Given the description of an element on the screen output the (x, y) to click on. 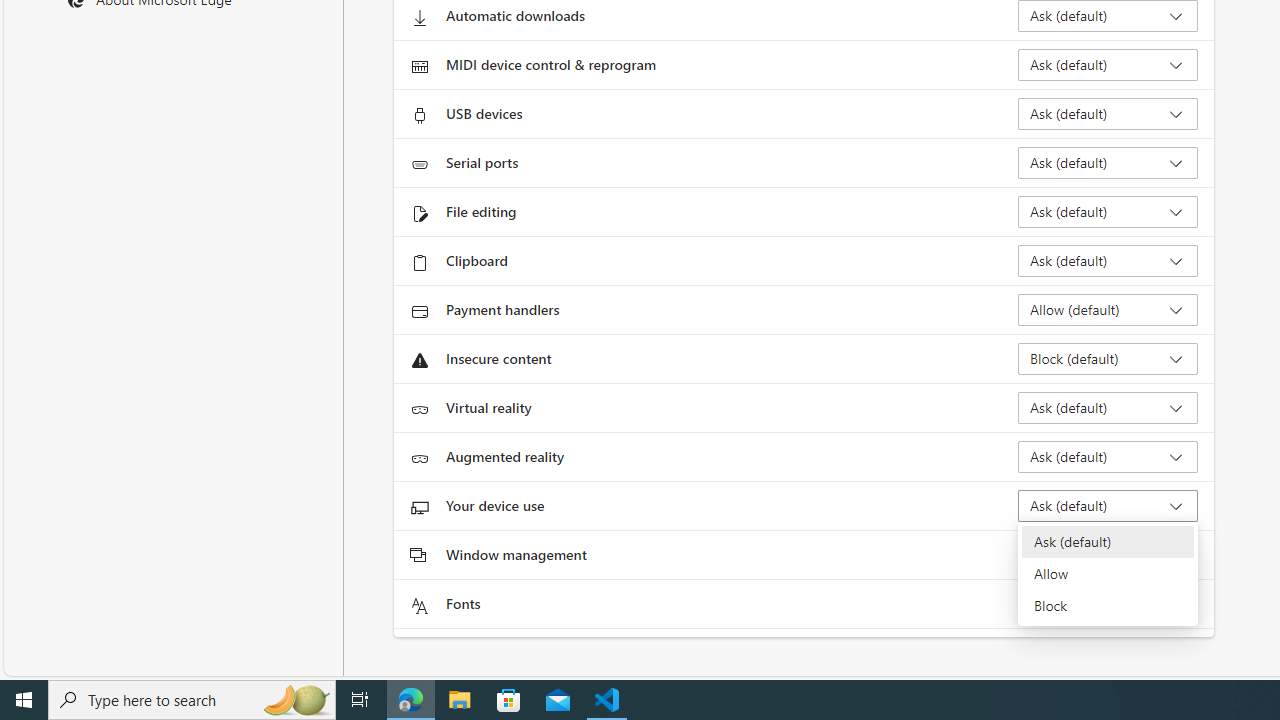
Insecure content Block (default) (1107, 358)
